Given the description of an element on the screen output the (x, y) to click on. 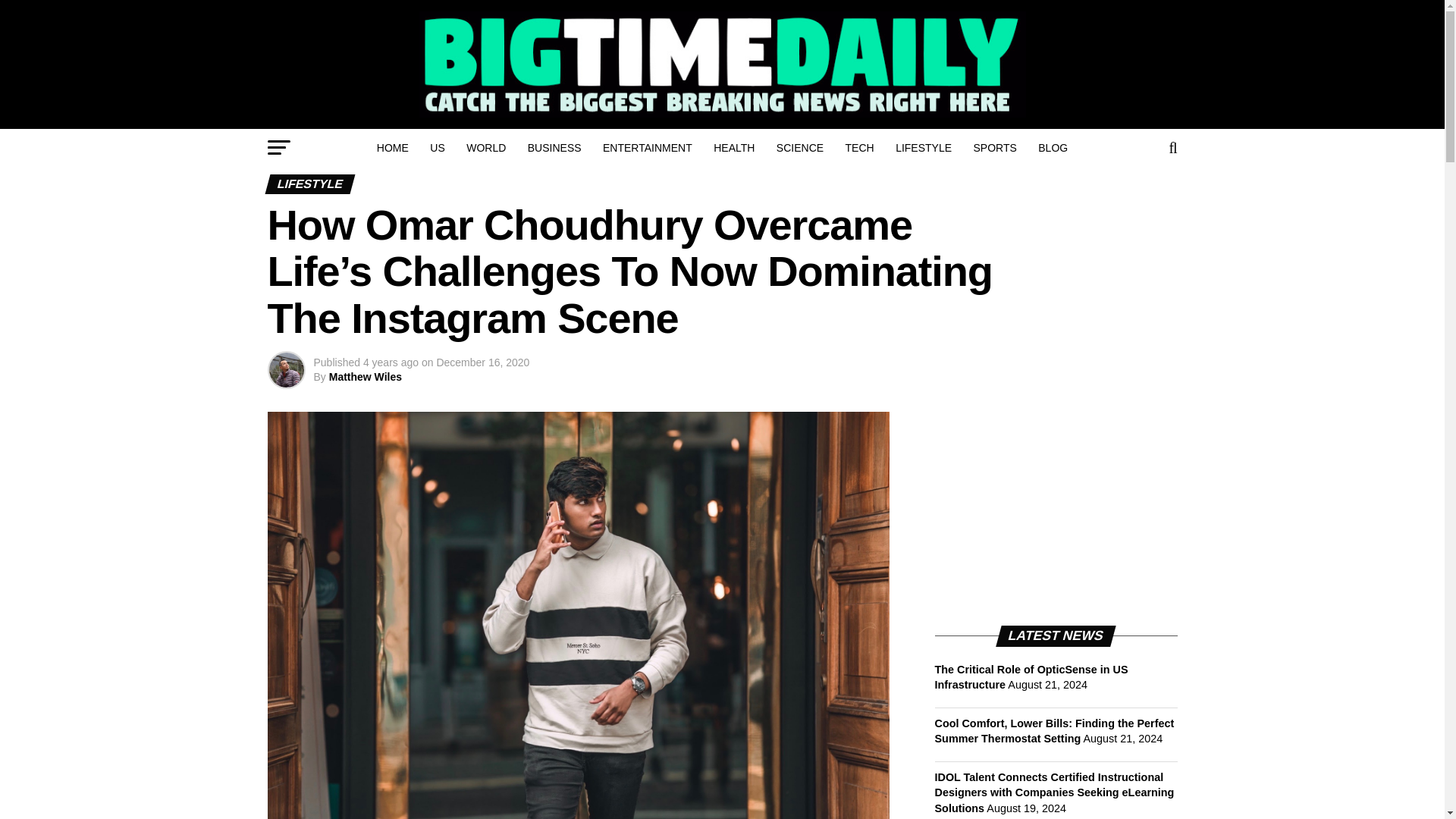
HEALTH (733, 147)
ENTERTAINMENT (647, 147)
Posts by Matthew Wiles (365, 377)
LIFESTYLE (923, 147)
BUSINESS (554, 147)
BLOG (1053, 147)
Matthew Wiles (365, 377)
Advertisement (1047, 506)
HOME (392, 147)
SCIENCE (799, 147)
